Given the description of an element on the screen output the (x, y) to click on. 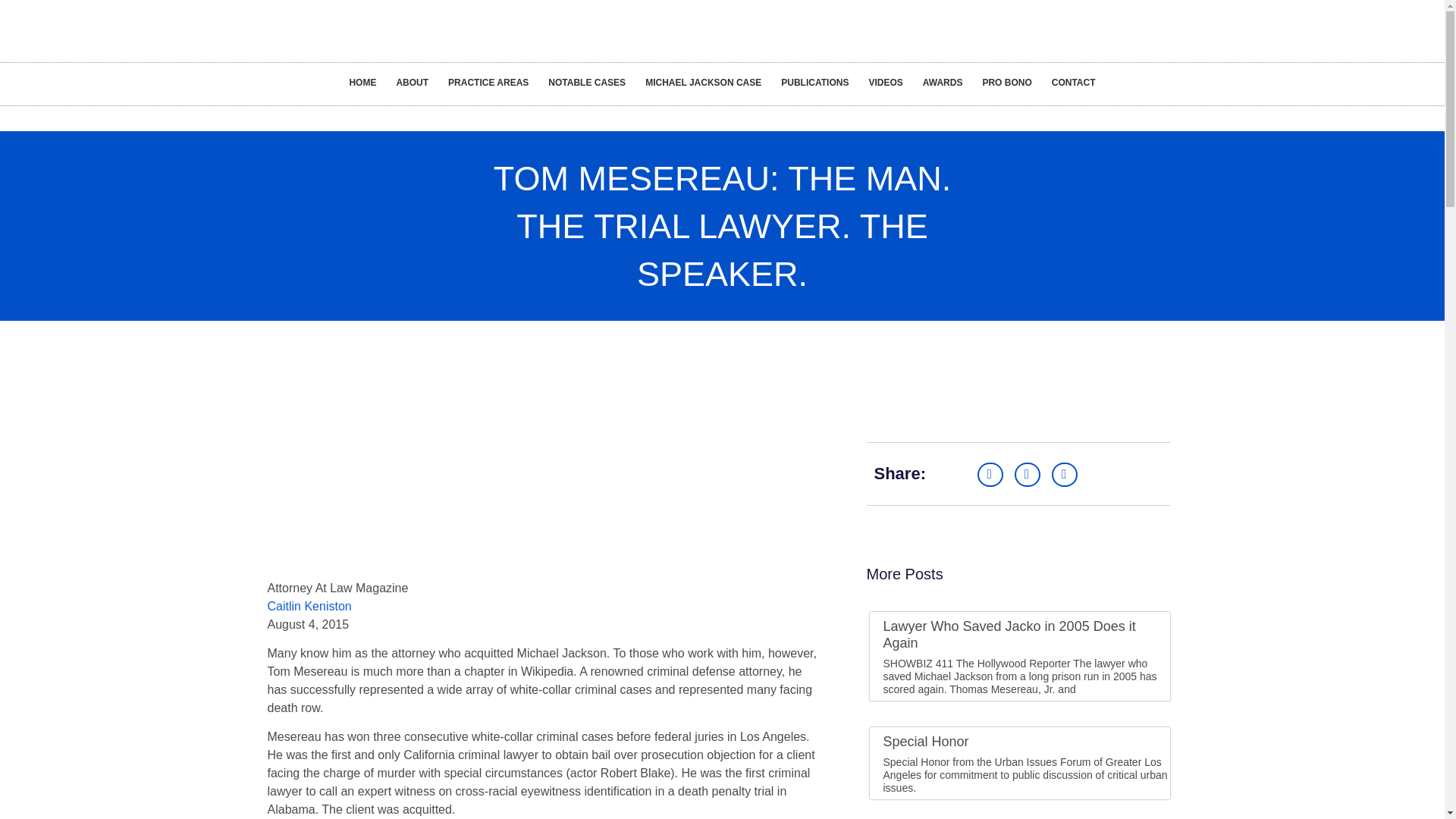
Caitlin Keniston (308, 605)
AWARDS (942, 82)
PRACTICE AREAS (488, 82)
Lawyer Who Saved Jacko in 2005 Does it Again (1008, 634)
HOME (362, 82)
CONTACT (1073, 82)
ABOUT (411, 82)
NOTABLE CASES (586, 82)
PUBLICATIONS (815, 82)
VIDEOS (885, 82)
